Given the description of an element on the screen output the (x, y) to click on. 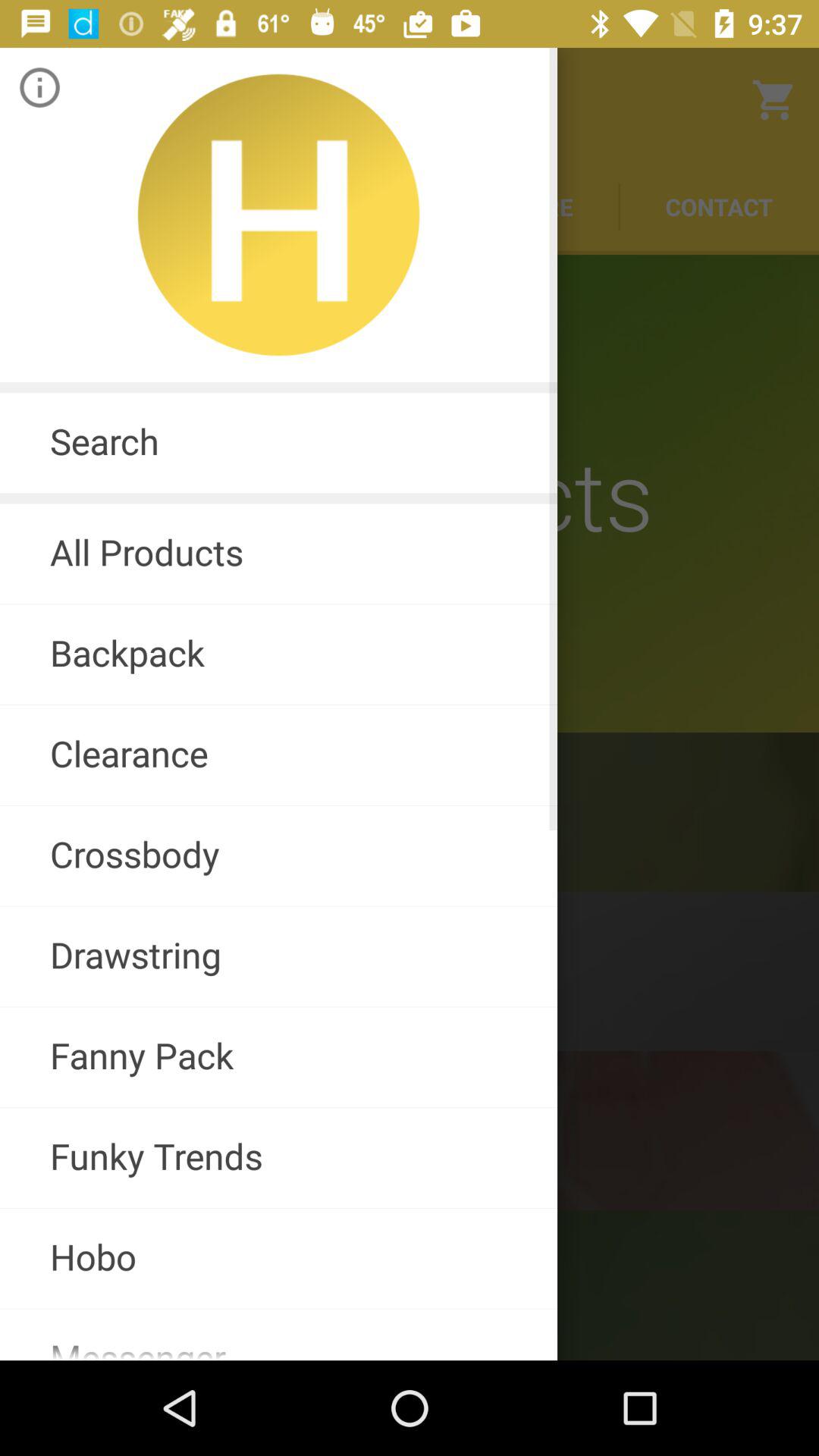
click on the profile icon (278, 214)
